Given the description of an element on the screen output the (x, y) to click on. 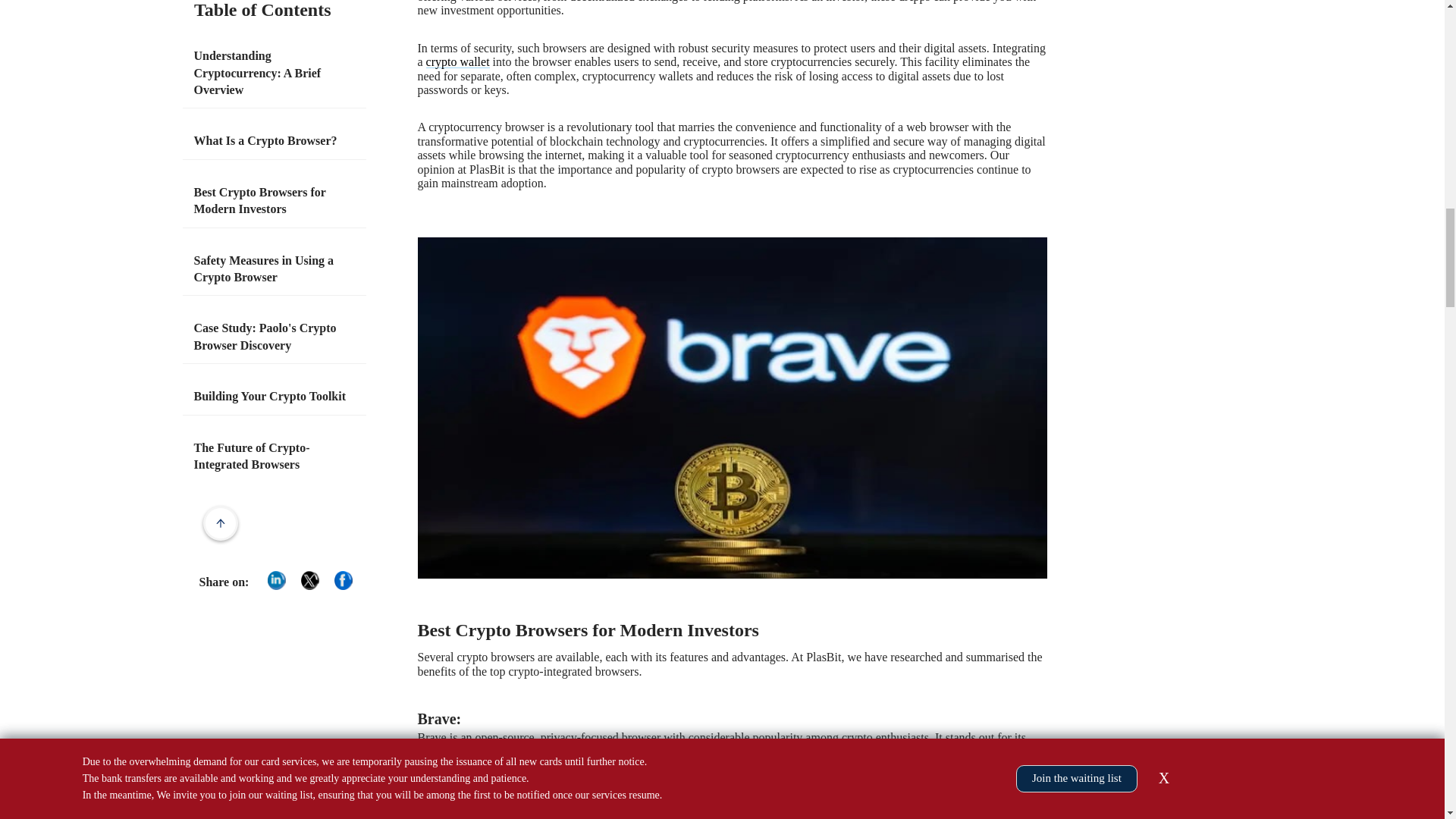
crypto wallet (457, 61)
